Given the description of an element on the screen output the (x, y) to click on. 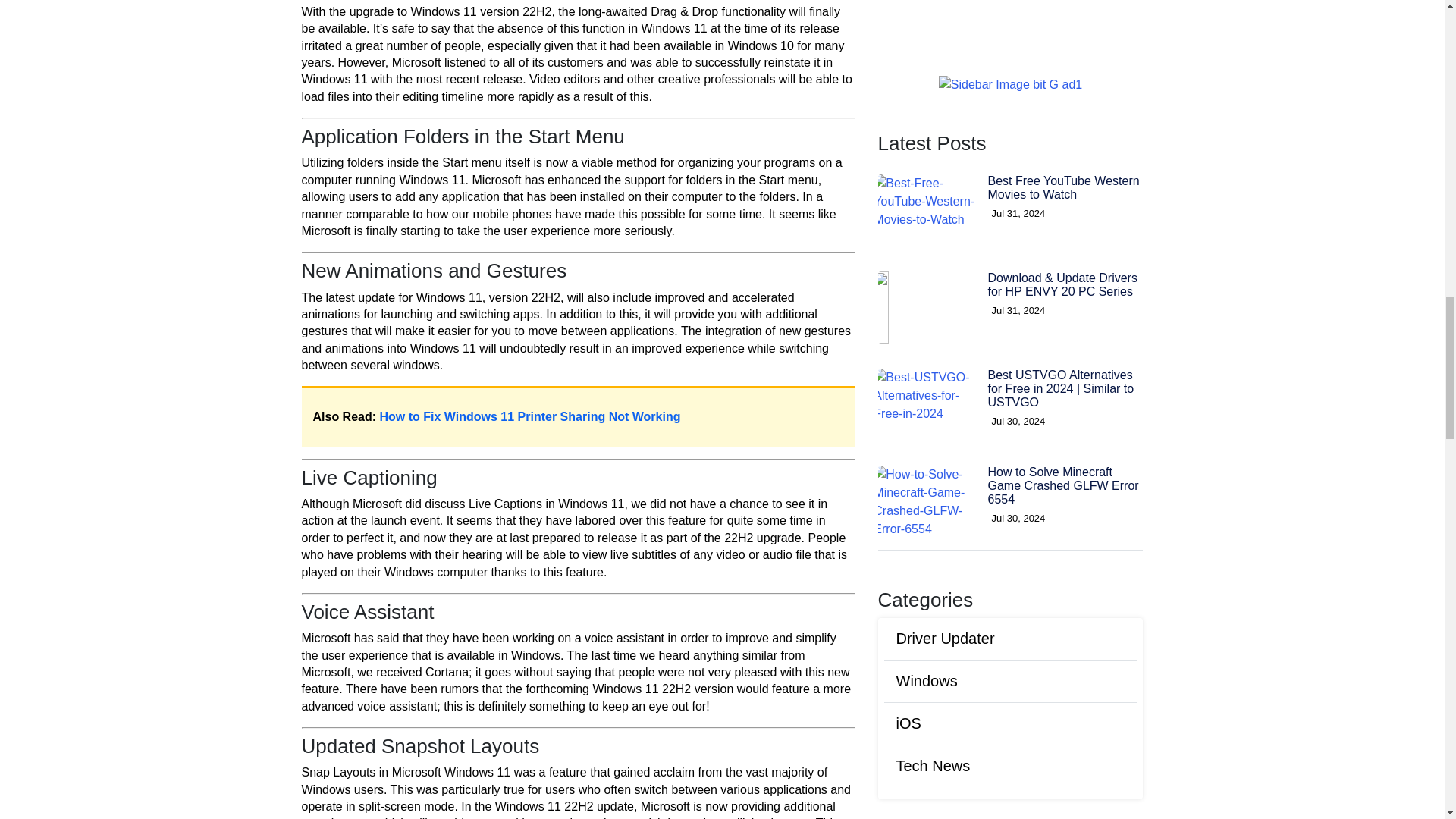
How to Fix Windows 11 Printer Sharing Not Working (530, 416)
